Given the description of an element on the screen output the (x, y) to click on. 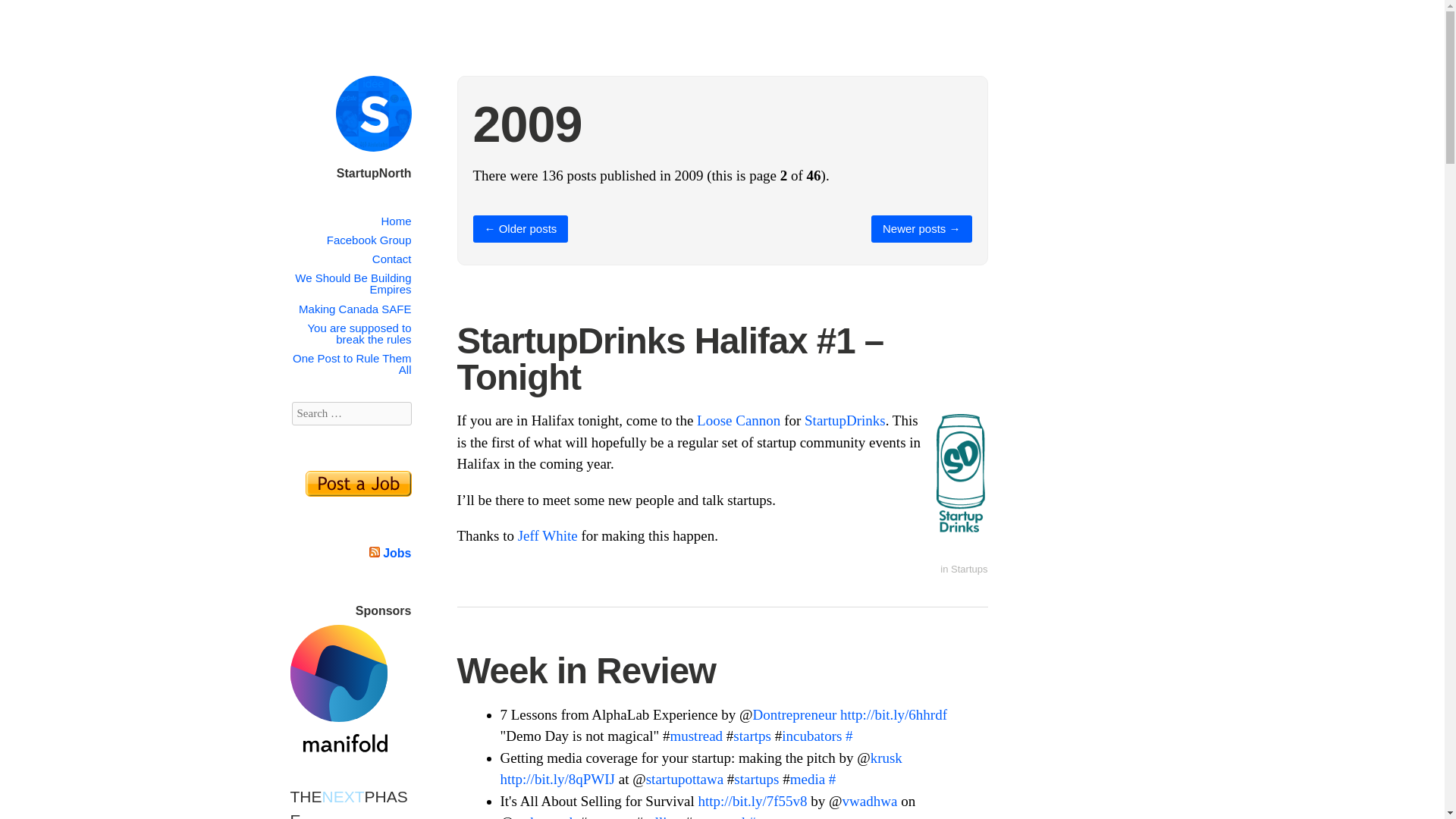
startups (609, 816)
startps (752, 735)
media (807, 779)
Manifold (338, 744)
Week in Review (586, 670)
krusk (886, 756)
Making Canada SAFE (354, 308)
Dontrepreneur (794, 714)
incubators (811, 735)
Loose Cannon (738, 420)
